Given the description of an element on the screen output the (x, y) to click on. 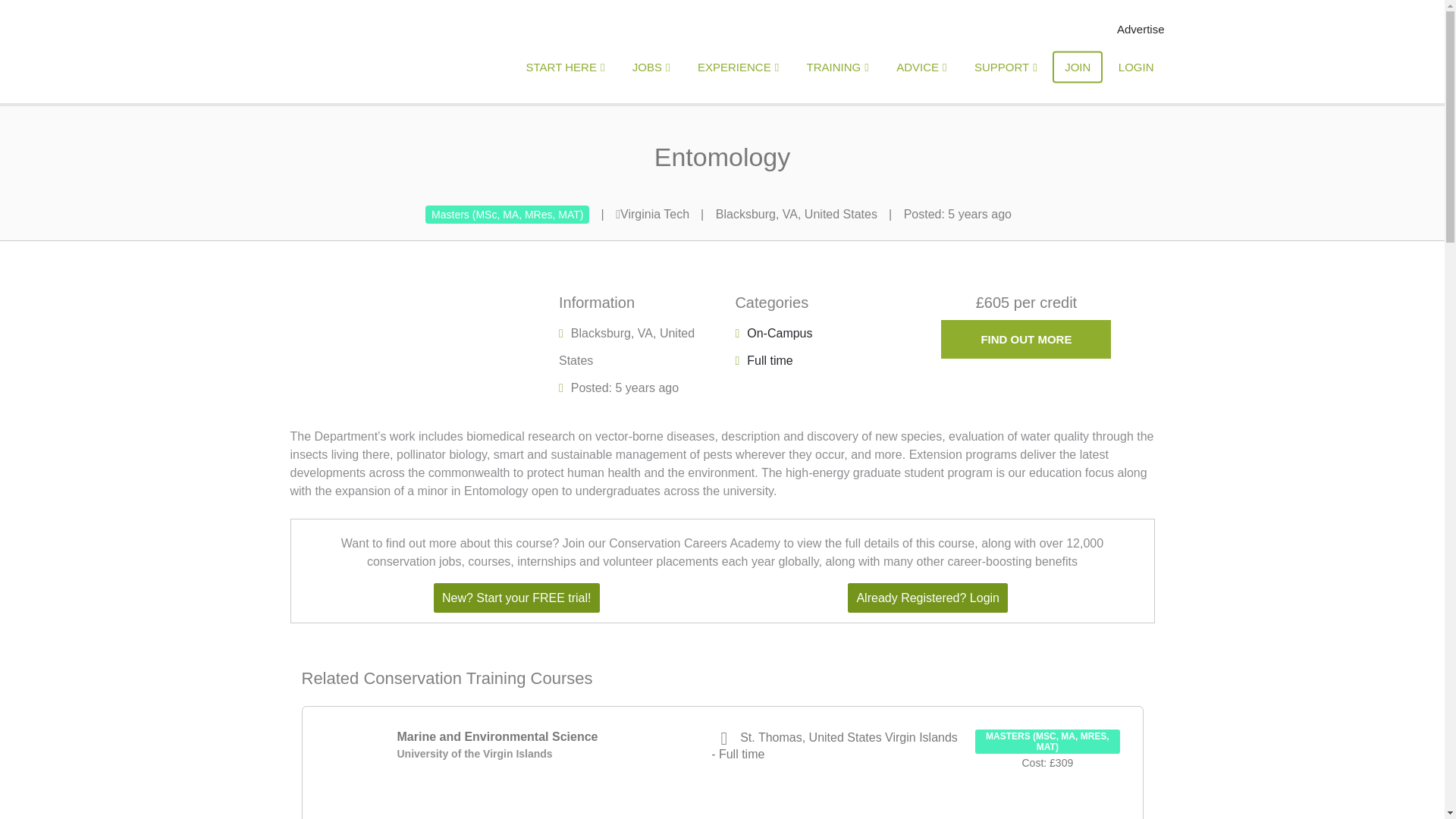
JOBS (651, 66)
ADVICE (920, 66)
Conservation Careers (406, 52)
START HERE (565, 66)
CONSERVATION CAREERS (406, 52)
EXPERIENCE (737, 66)
TRAINING (837, 66)
Advertise (1135, 29)
